Given the description of an element on the screen output the (x, y) to click on. 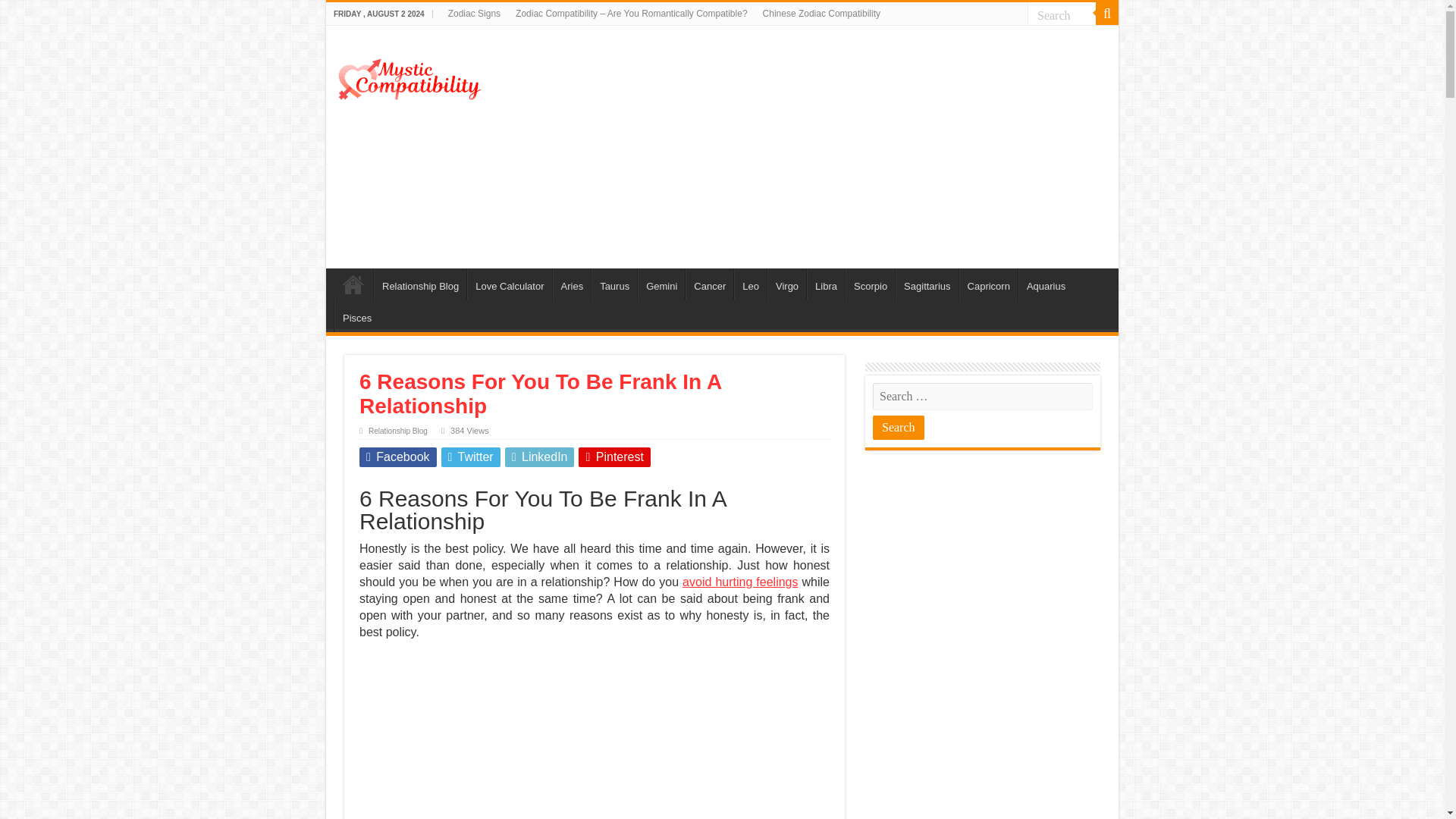
Relationship Blog (419, 284)
Virgo Compatibility (786, 284)
Compatibility (352, 284)
Search (1107, 13)
Search (1061, 15)
Love Calculator (509, 284)
LinkedIn (540, 456)
Search (1061, 15)
Aries (572, 284)
Search (898, 427)
Libra (825, 284)
Sagittarius Compatibility (926, 284)
Cancer (709, 284)
Capricorn (988, 284)
Search (1061, 15)
